Given the description of an element on the screen output the (x, y) to click on. 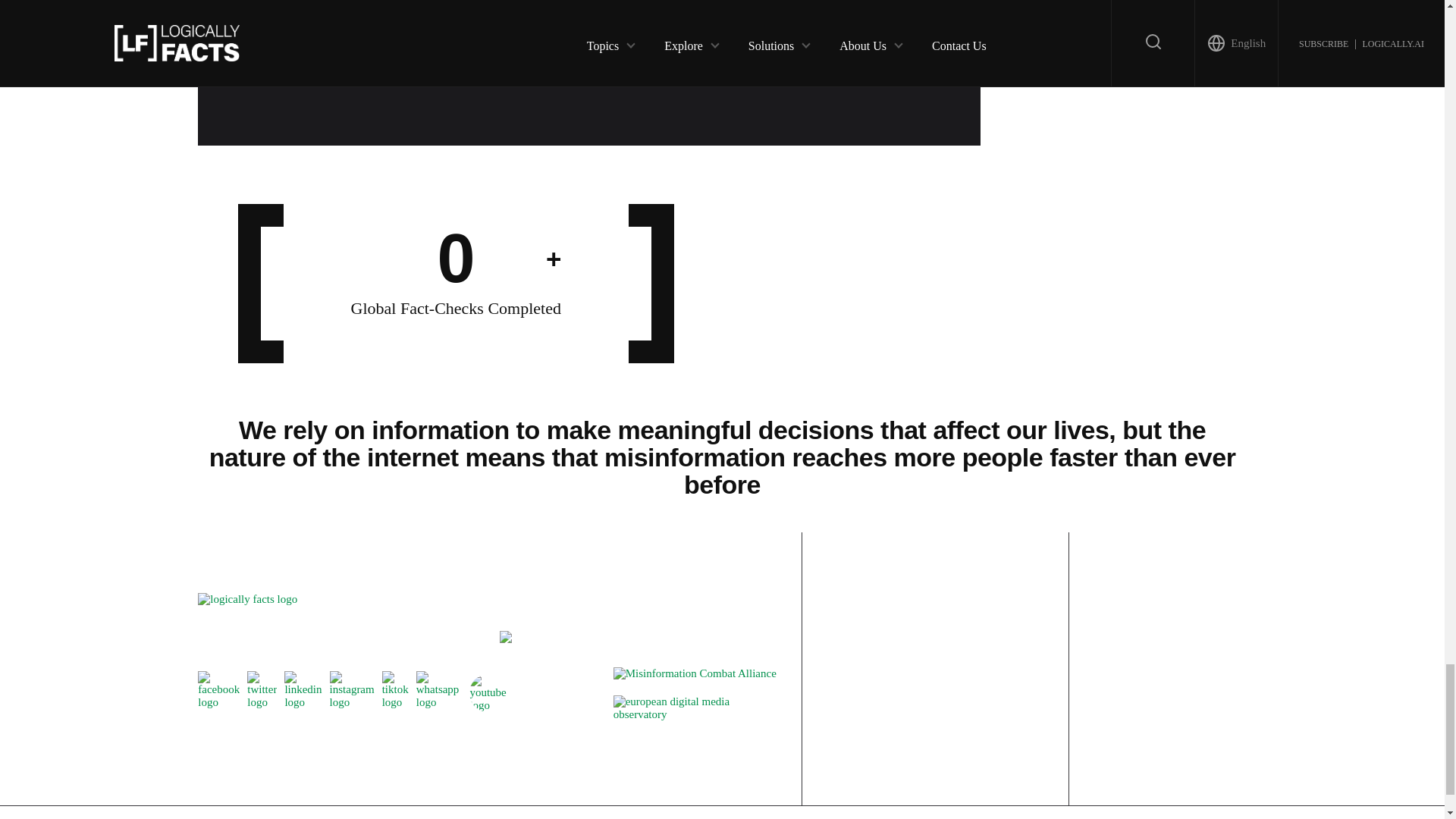
IFCN signatory (505, 639)
